Given the description of an element on the screen output the (x, y) to click on. 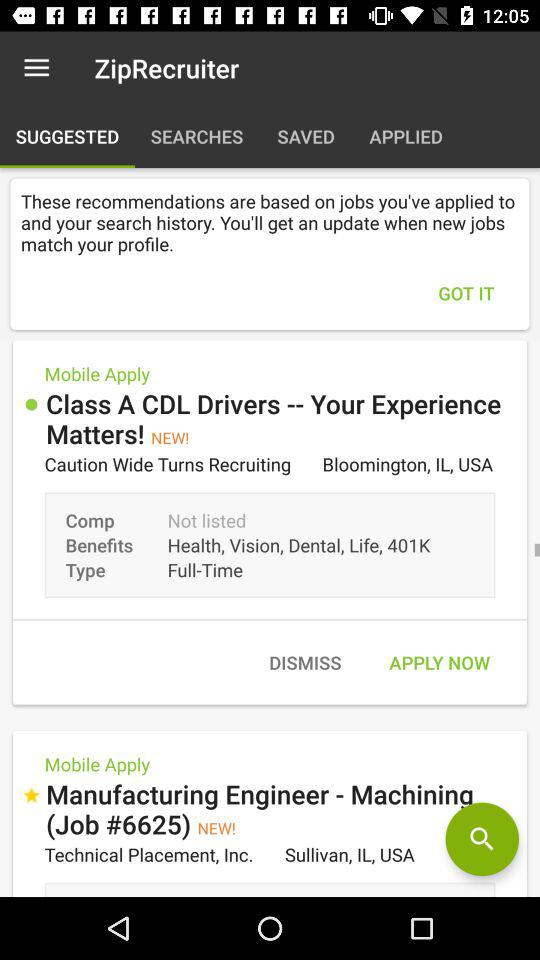
launch the icon above the manufacturing engineer machining (304, 662)
